Given the description of an element on the screen output the (x, y) to click on. 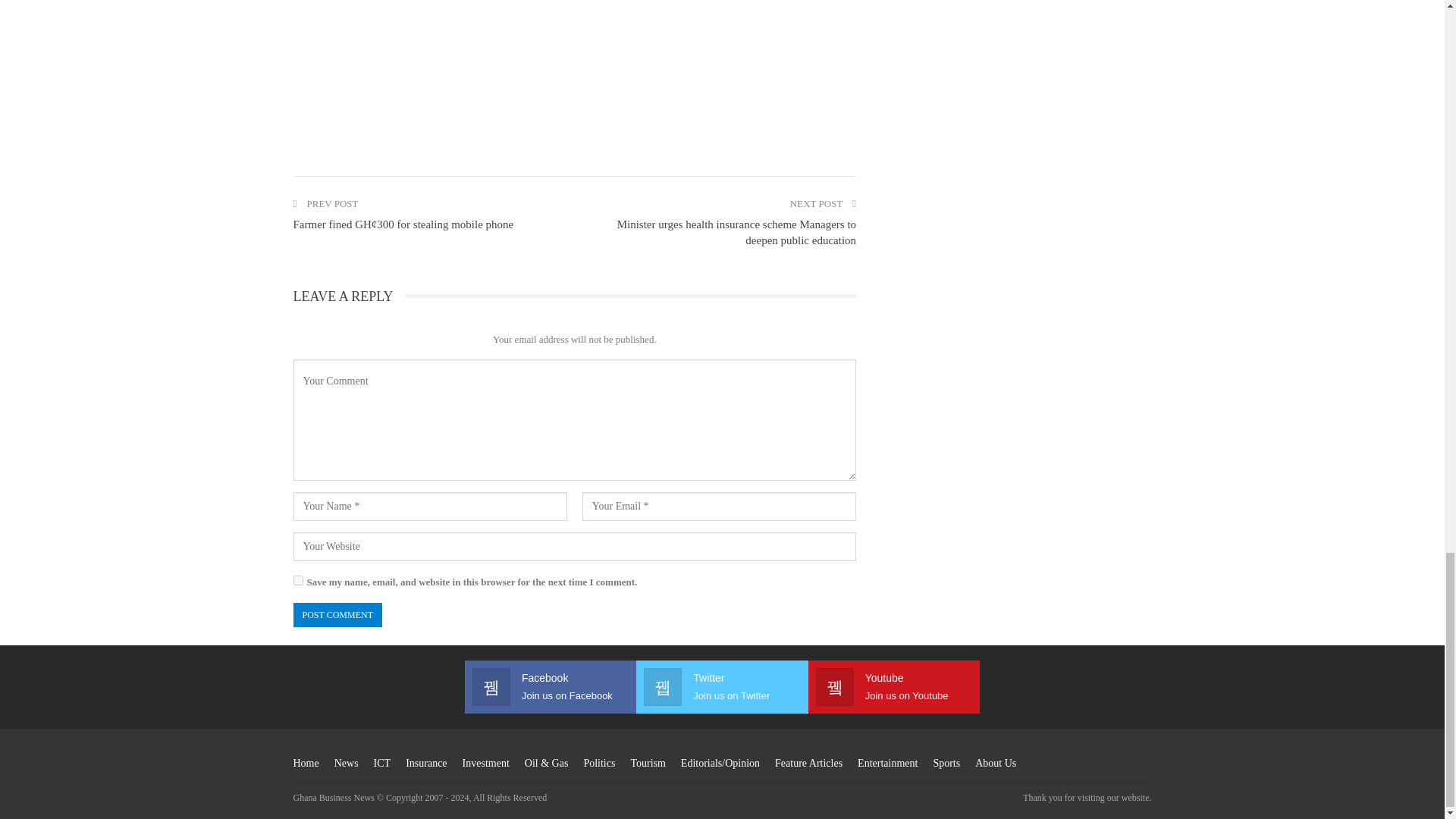
yes (297, 580)
Post Comment (336, 615)
Post Comment (336, 615)
